Given the description of an element on the screen output the (x, y) to click on. 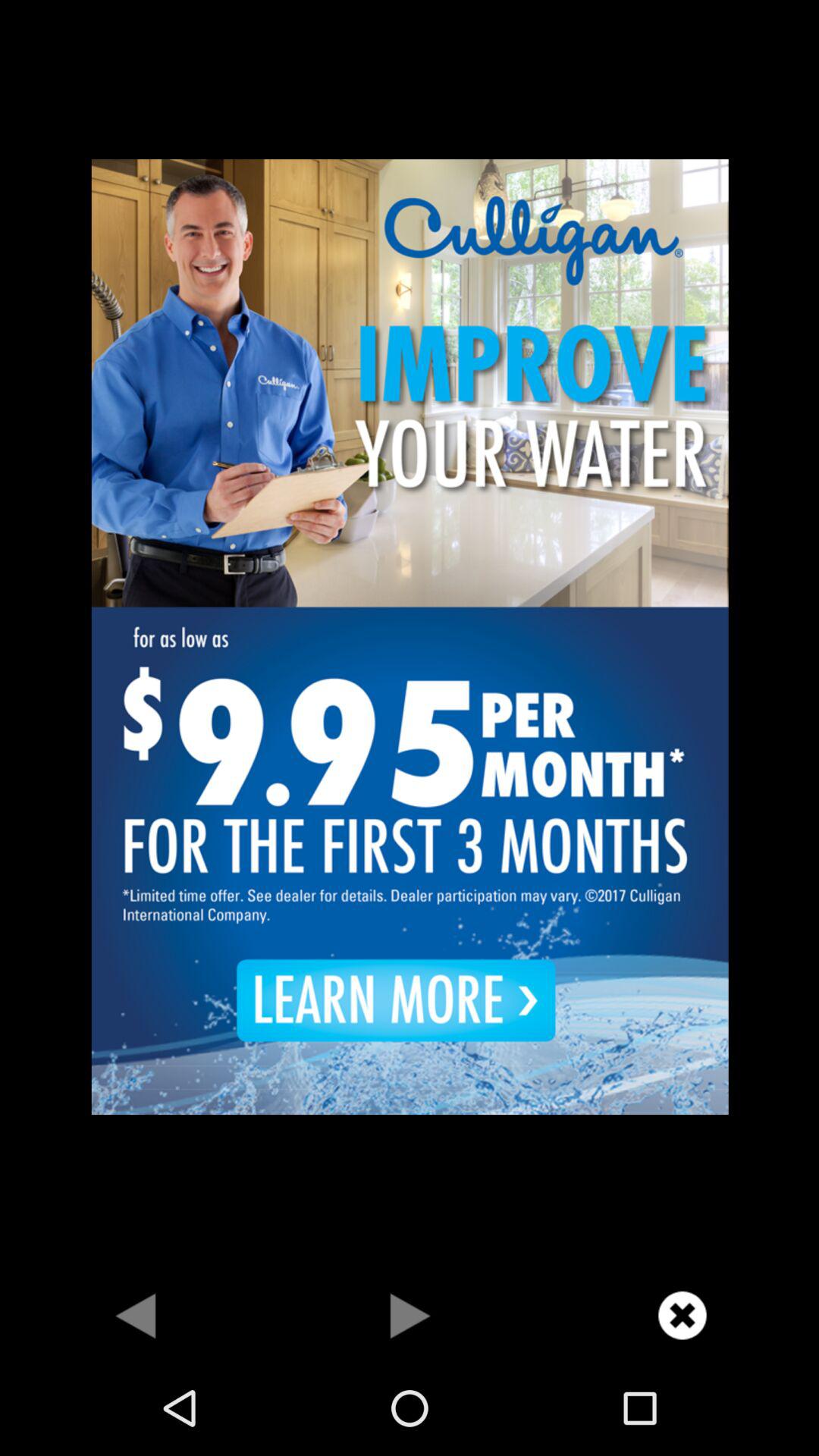
go next (409, 1315)
